Given the description of an element on the screen output the (x, y) to click on. 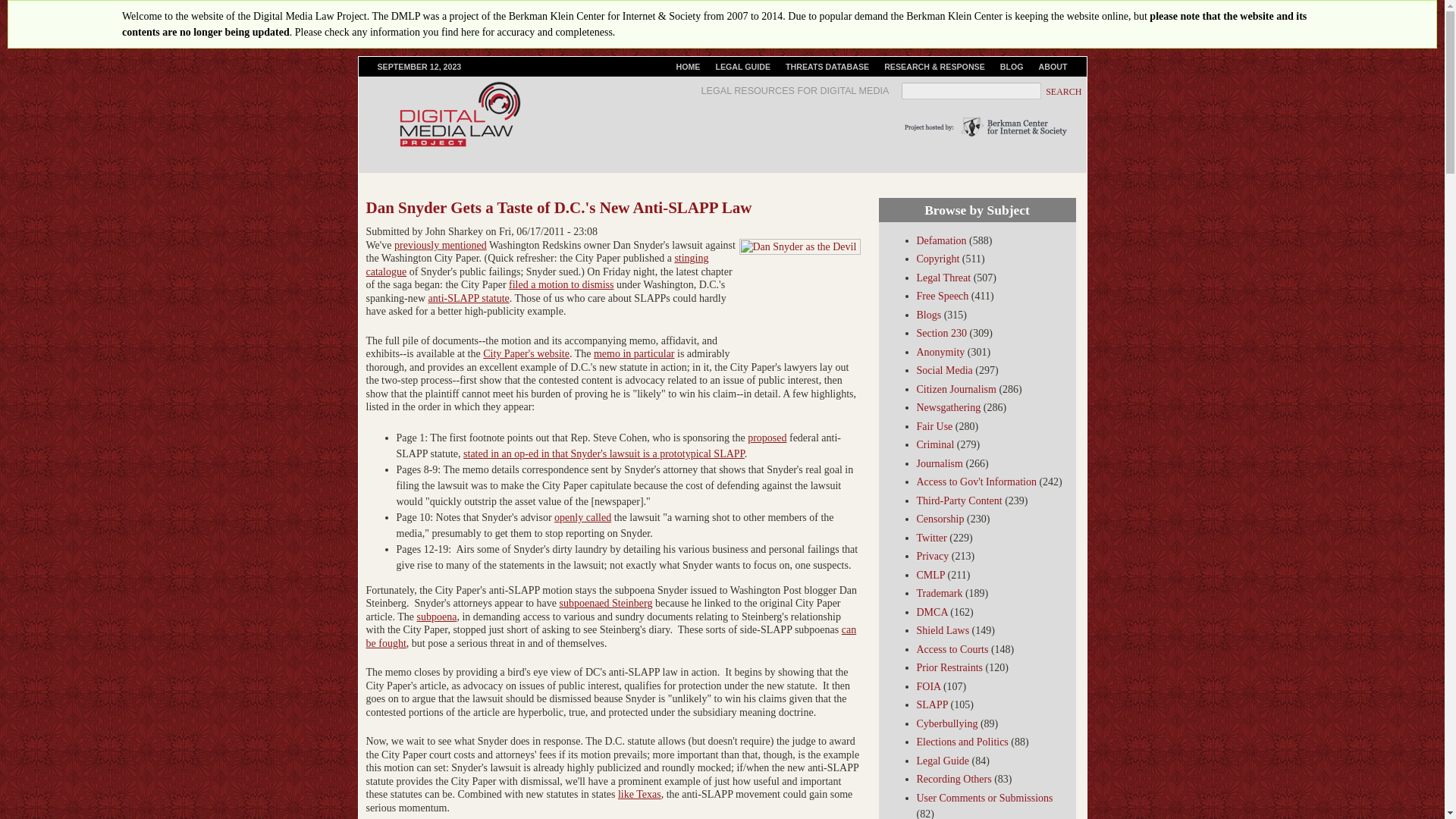
Free Speech (941, 296)
can be fought (610, 636)
previously mentioned (440, 244)
Dan Snyder as the Devil (799, 299)
CMLP legal threats database (826, 66)
ABOUT (1052, 66)
HOME (687, 66)
Copyright (937, 258)
subpoena (436, 616)
Search (1064, 91)
THREATS DATABASE (826, 66)
proposed (767, 437)
Legal Threat (943, 277)
